Given the description of an element on the screen output the (x, y) to click on. 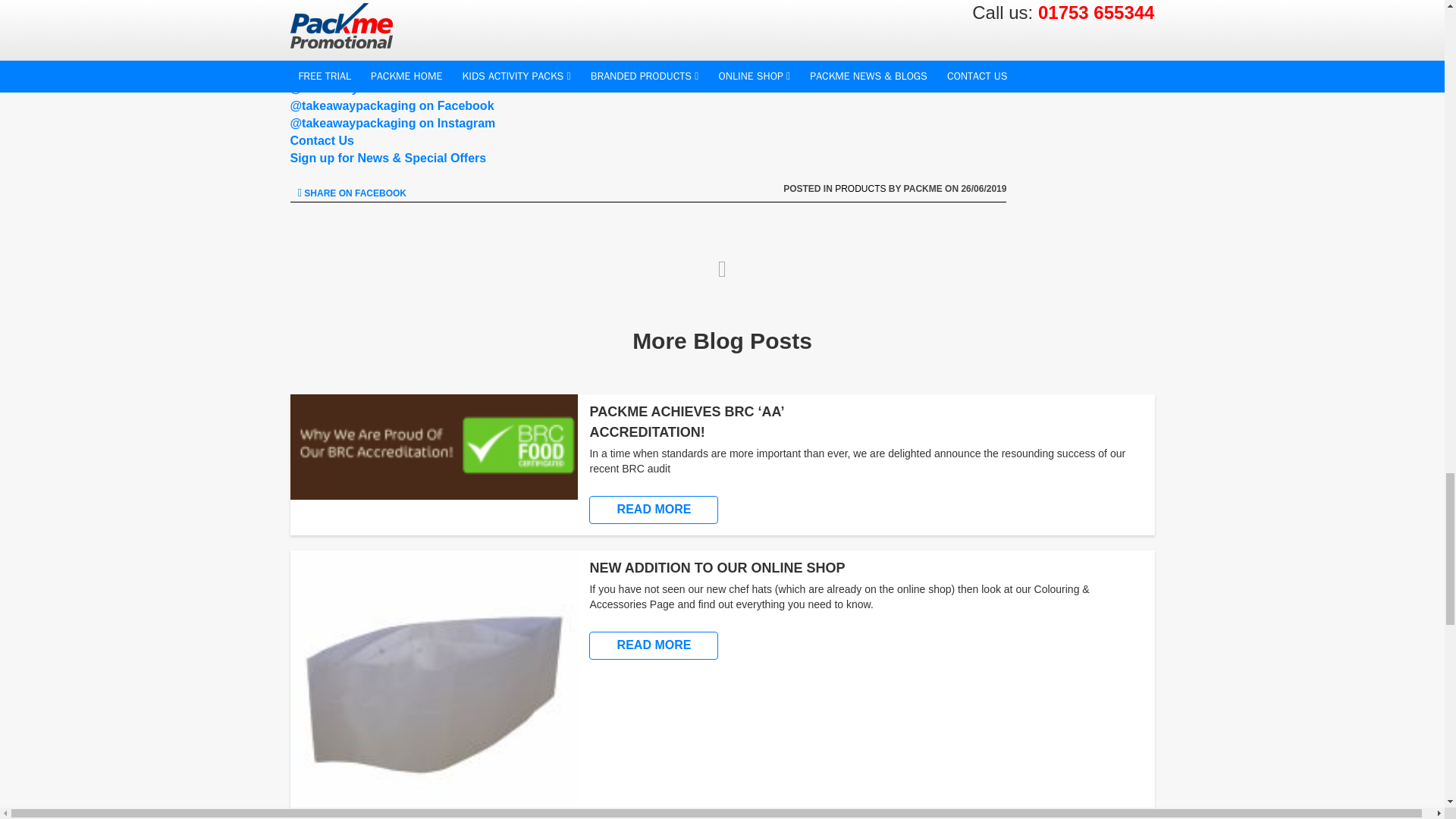
PRODUCTS (859, 188)
SHARE ON FACEBOOK (351, 193)
Contact Us (321, 140)
